Given the description of an element on the screen output the (x, y) to click on. 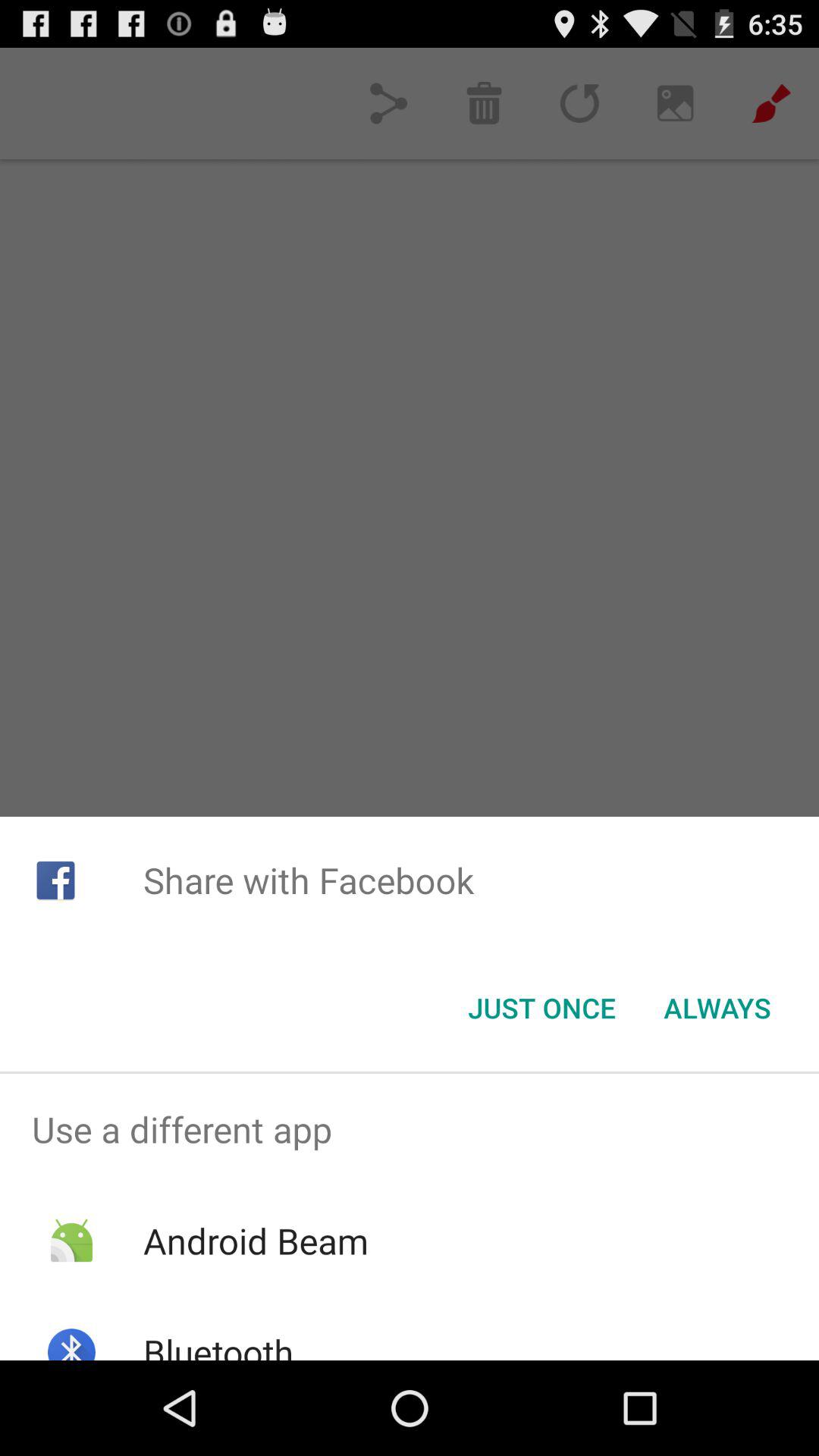
select use a different icon (409, 1129)
